Given the description of an element on the screen output the (x, y) to click on. 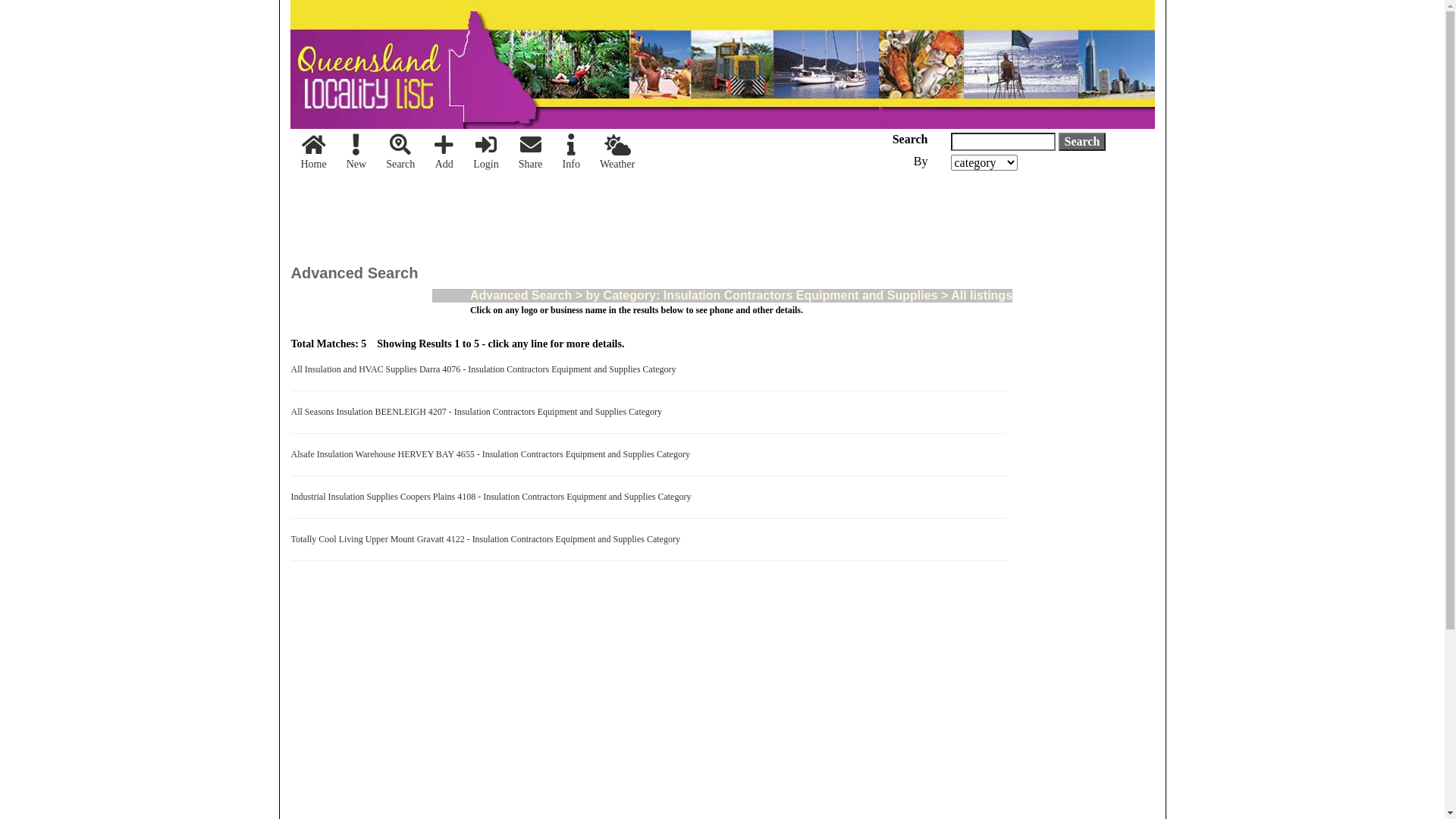
Info Element type: text (570, 152)
Share Element type: text (530, 152)
Weather Element type: text (616, 152)
Search Element type: text (400, 152)
Advertisement Element type: hover (1089, 580)
Login Element type: text (485, 152)
Search Element type: text (1082, 141)
Advertisement Element type: hover (567, 212)
Add Element type: text (443, 152)
Home Element type: text (313, 152)
New Element type: text (356, 152)
